Given the description of an element on the screen output the (x, y) to click on. 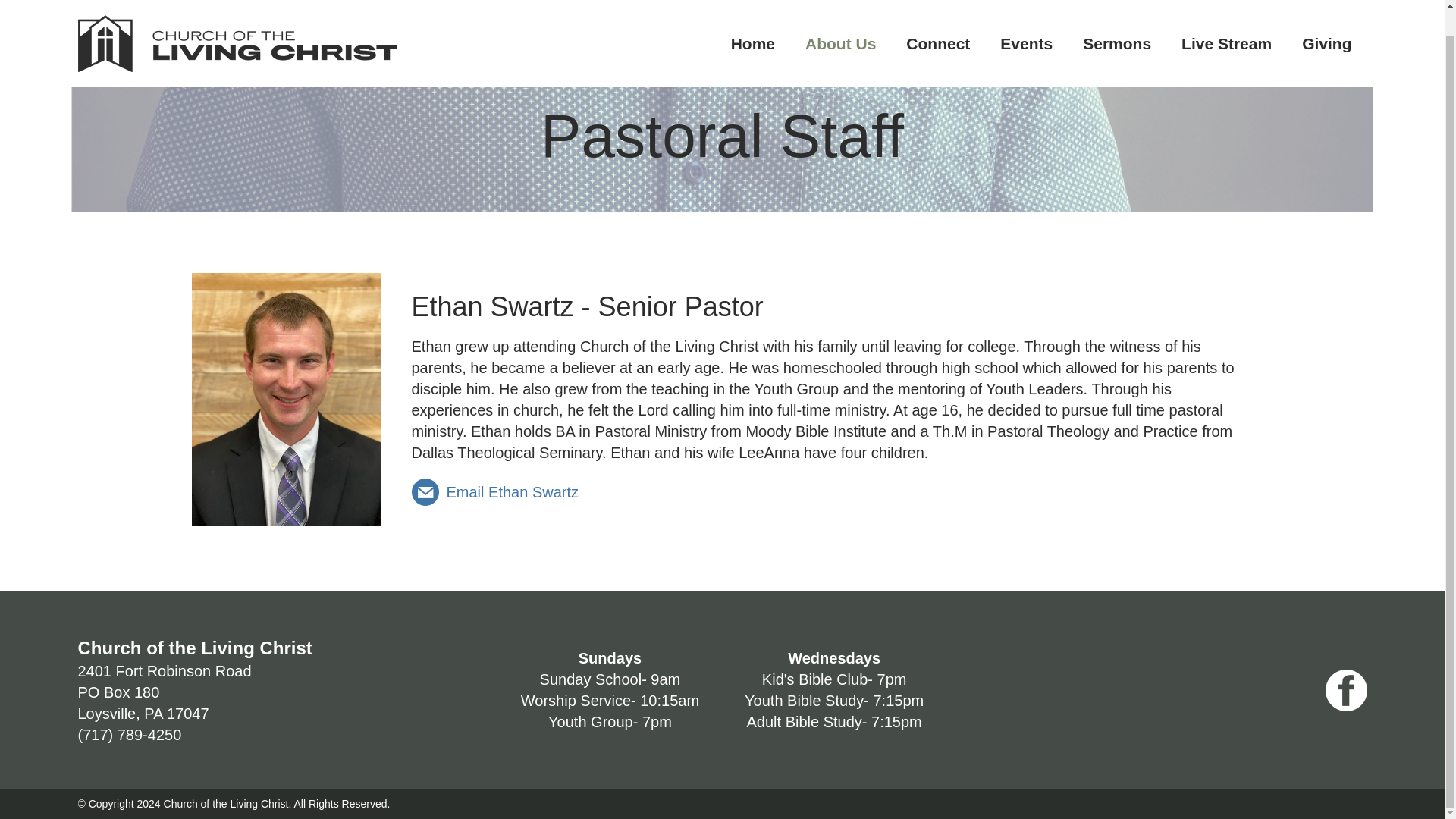
Connect (938, 17)
Sermons (1116, 17)
Giving (1327, 17)
About Us (163, 691)
Live Stream (840, 17)
Home (1226, 17)
Email Ethan Swartz (753, 17)
Events (494, 492)
Facebook (1026, 17)
